Given the description of an element on the screen output the (x, y) to click on. 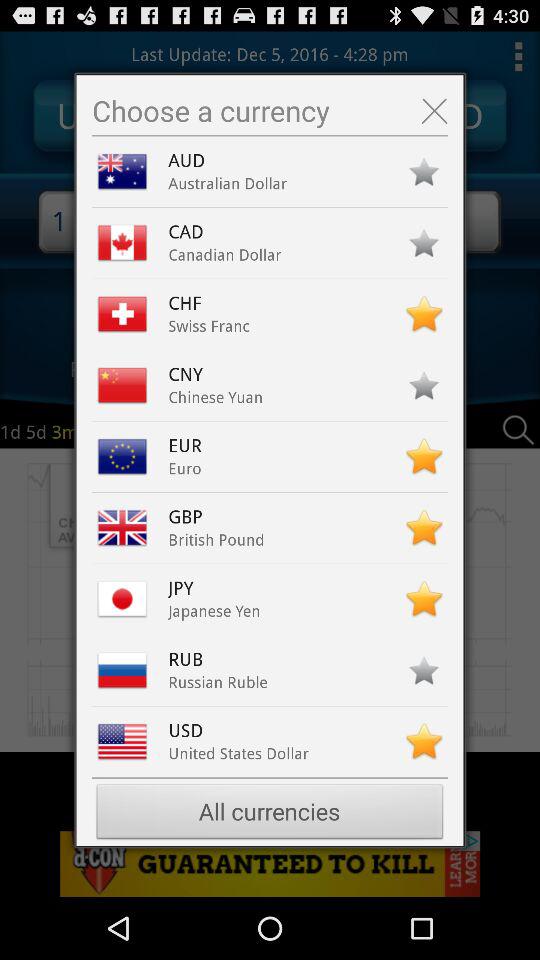
scroll until cny item (189, 374)
